Given the description of an element on the screen output the (x, y) to click on. 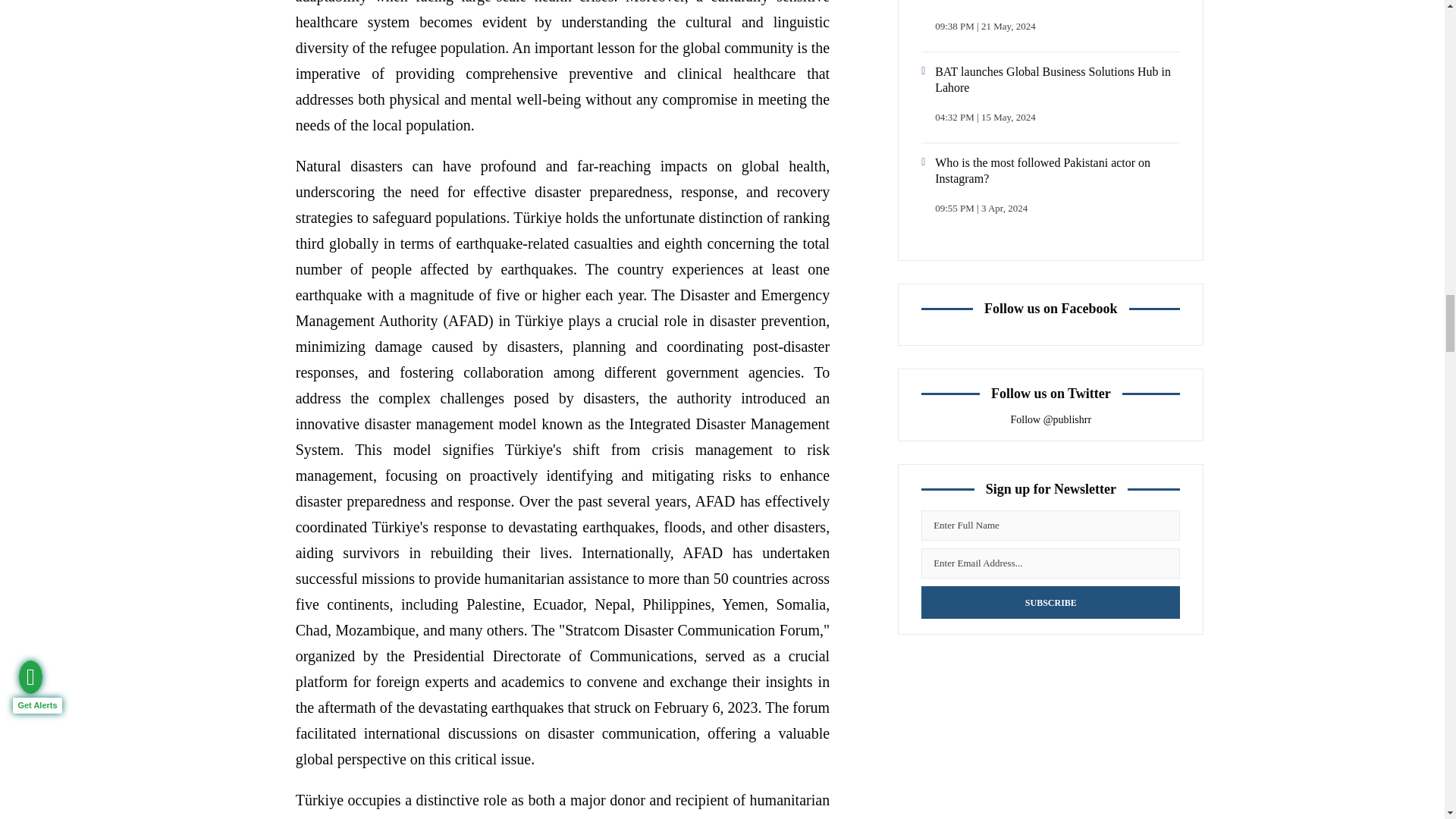
Subscribe (1050, 602)
